Given the description of an element on the screen output the (x, y) to click on. 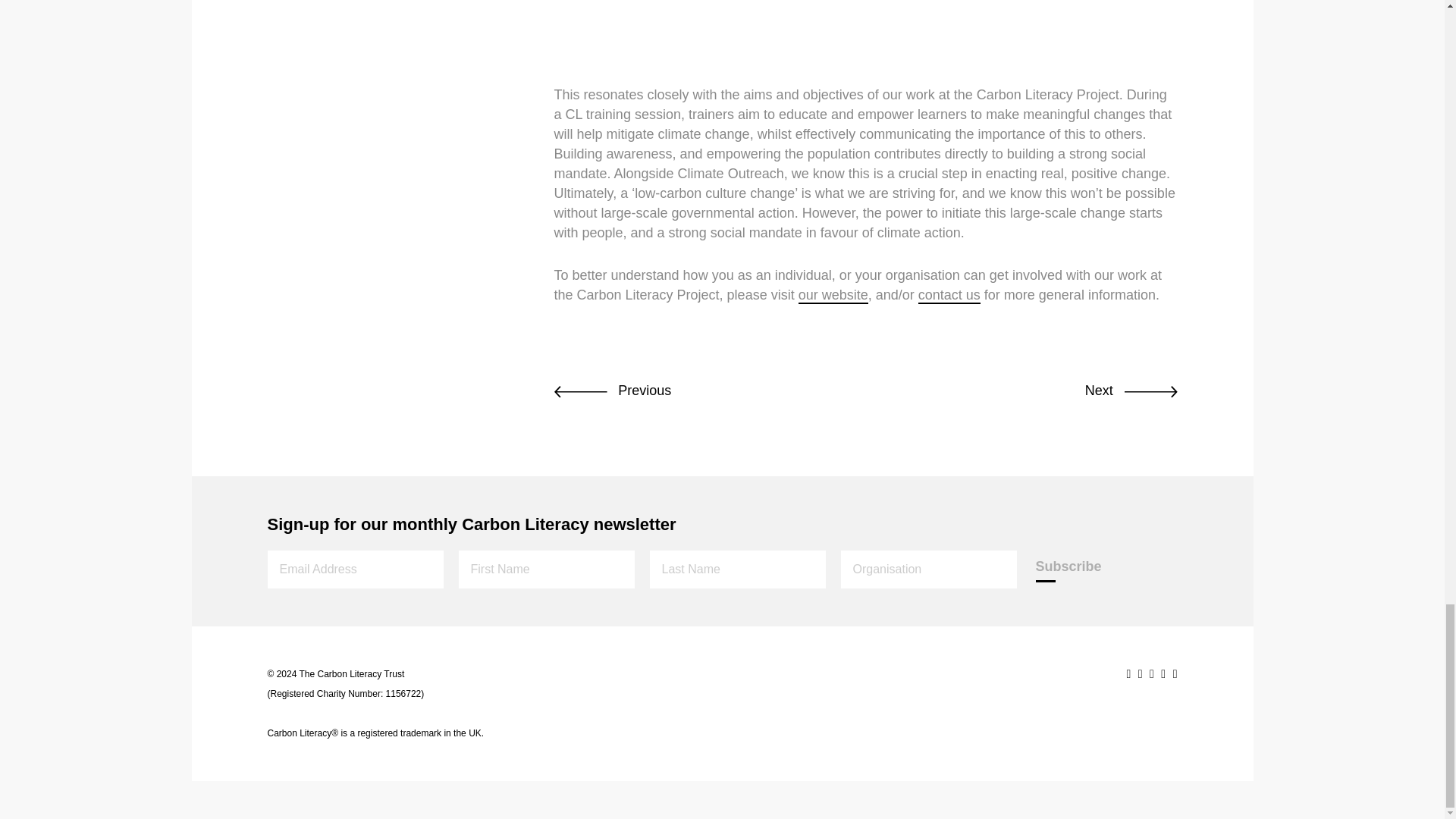
Subscribe (1068, 566)
